Given the description of an element on the screen output the (x, y) to click on. 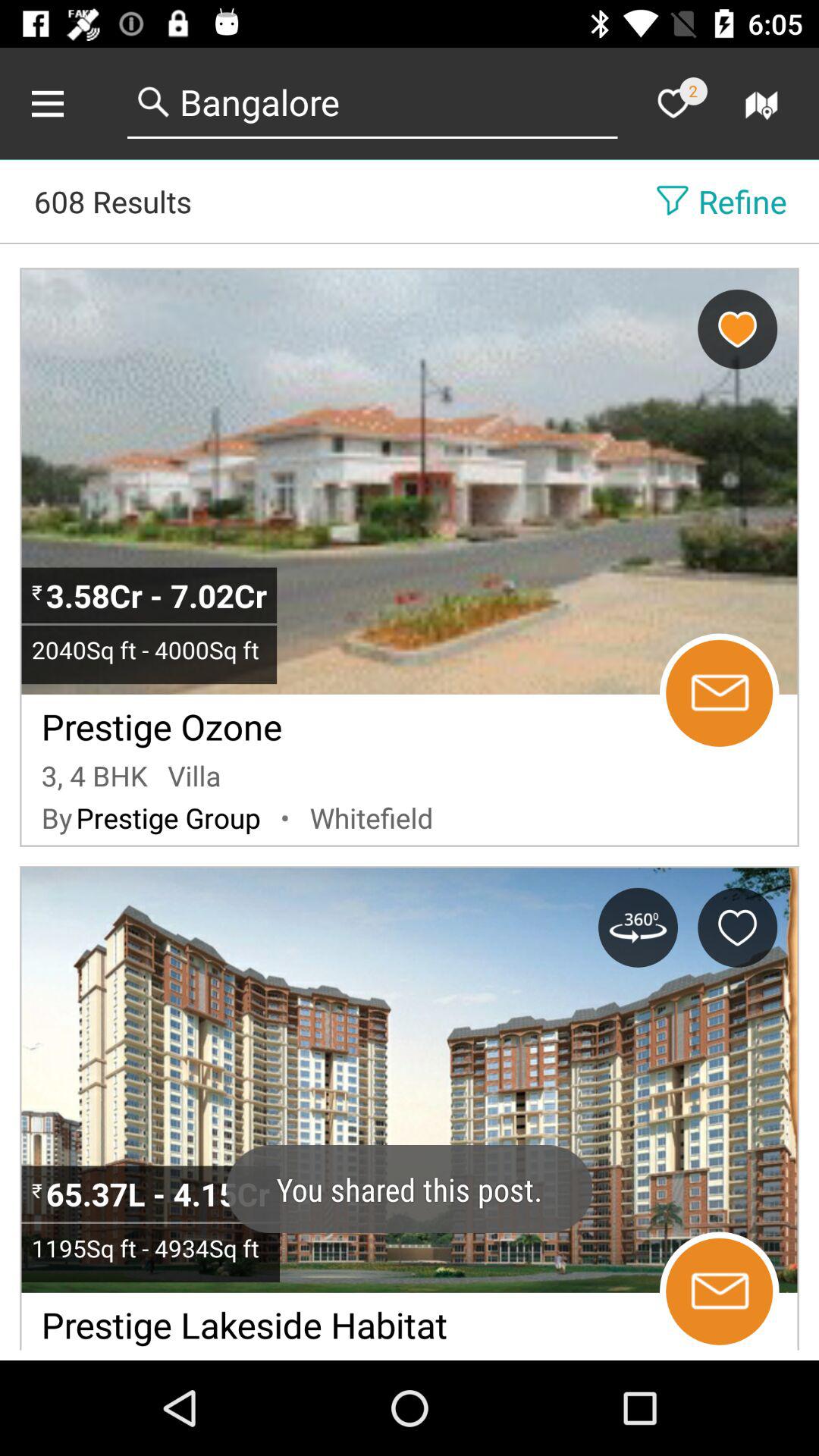
choose whitefield icon (371, 817)
